Given the description of an element on the screen output the (x, y) to click on. 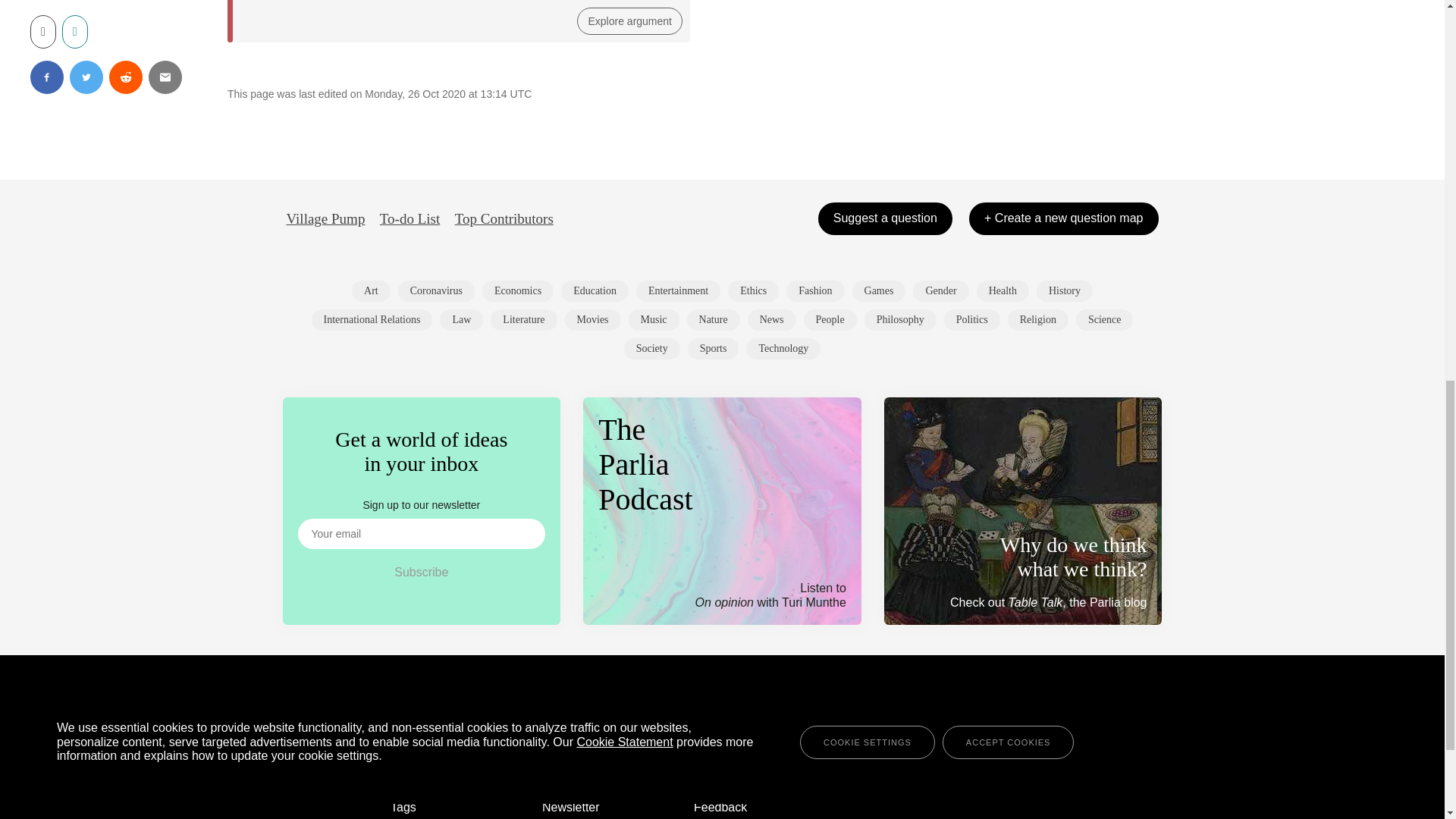
Category item (523, 319)
International Relations (371, 319)
Category item (1064, 291)
Movies (592, 319)
Category item (678, 291)
Category item (940, 291)
Category item (815, 291)
Explore argument (629, 21)
History (1064, 291)
Games (878, 291)
